Given the description of an element on the screen output the (x, y) to click on. 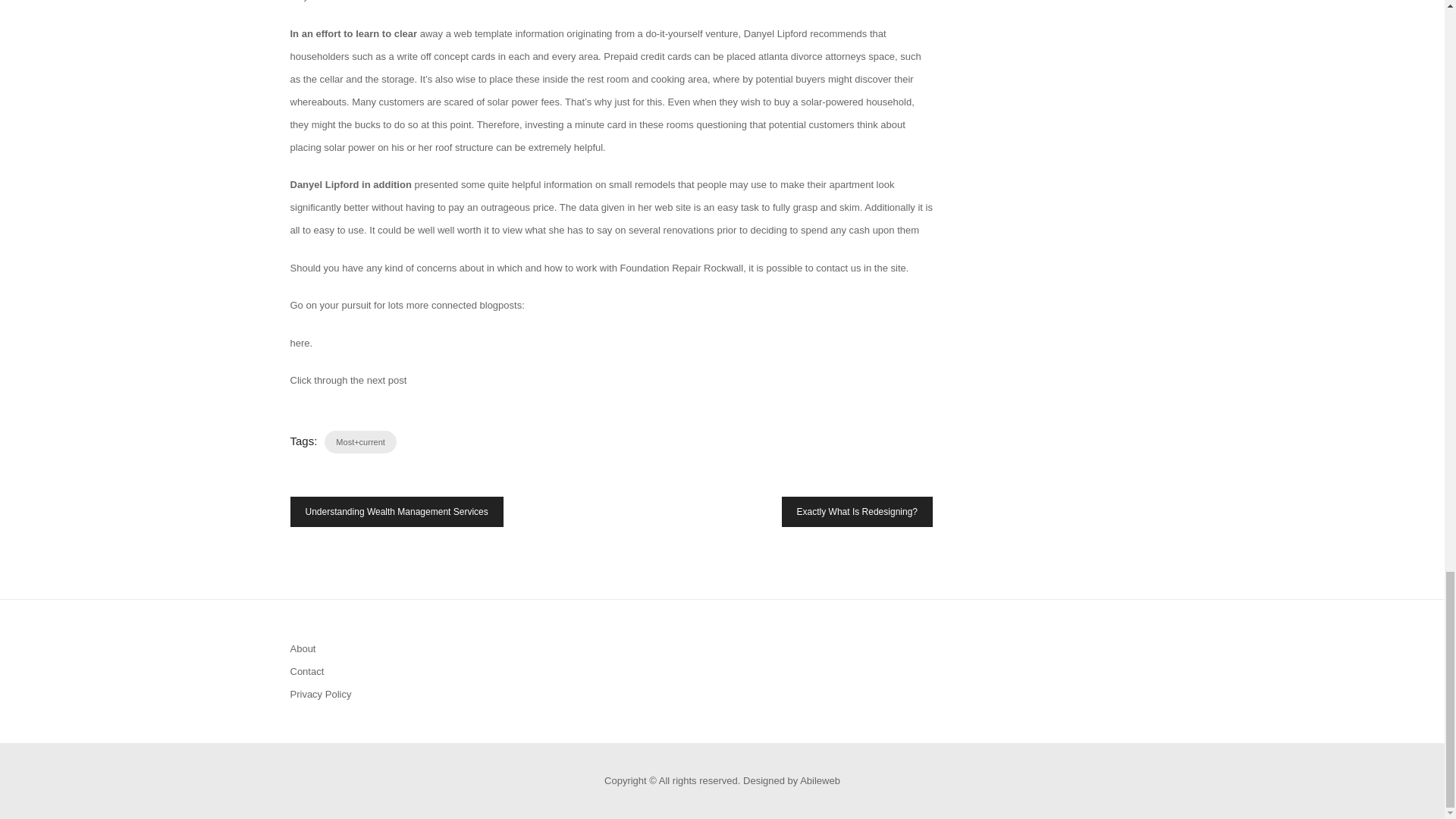
About (302, 648)
Exactly What Is Redesigning? (857, 511)
Click through the next post (347, 379)
here. (301, 342)
Foundation Repair Rockwall (682, 267)
Contact (306, 671)
placing solar (317, 146)
Designed by Abileweb (791, 780)
Privacy Policy (319, 694)
Understanding Wealth Management Services (395, 511)
